Given the description of an element on the screen output the (x, y) to click on. 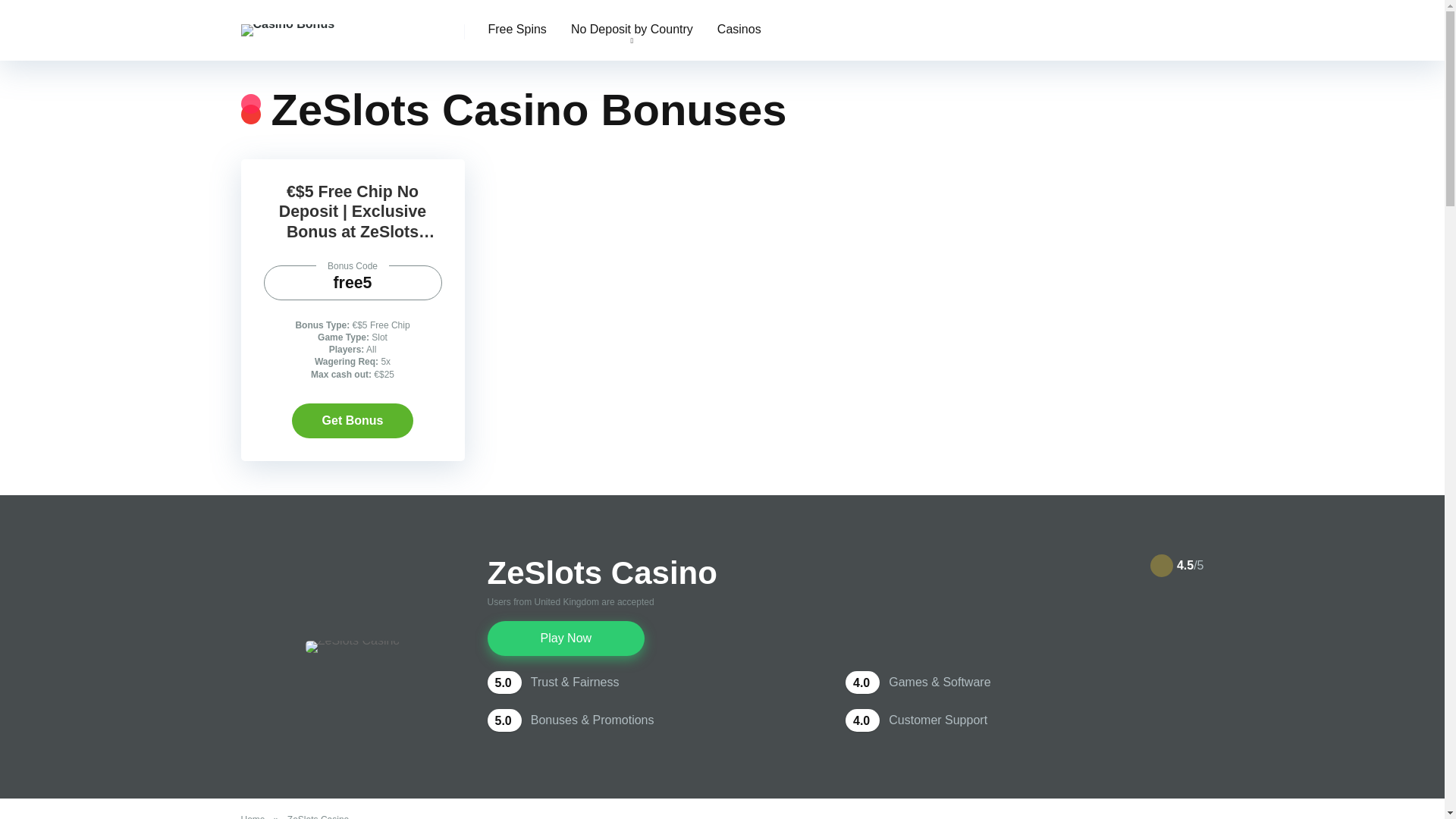
Home (255, 816)
Get Bonus (352, 420)
Casino Bonus (287, 30)
Get Bonus (352, 420)
Play Now (565, 638)
No Deposit by Country (631, 30)
Casinos (738, 30)
Free Spins (517, 30)
Play Now (565, 638)
